Given the description of an element on the screen output the (x, y) to click on. 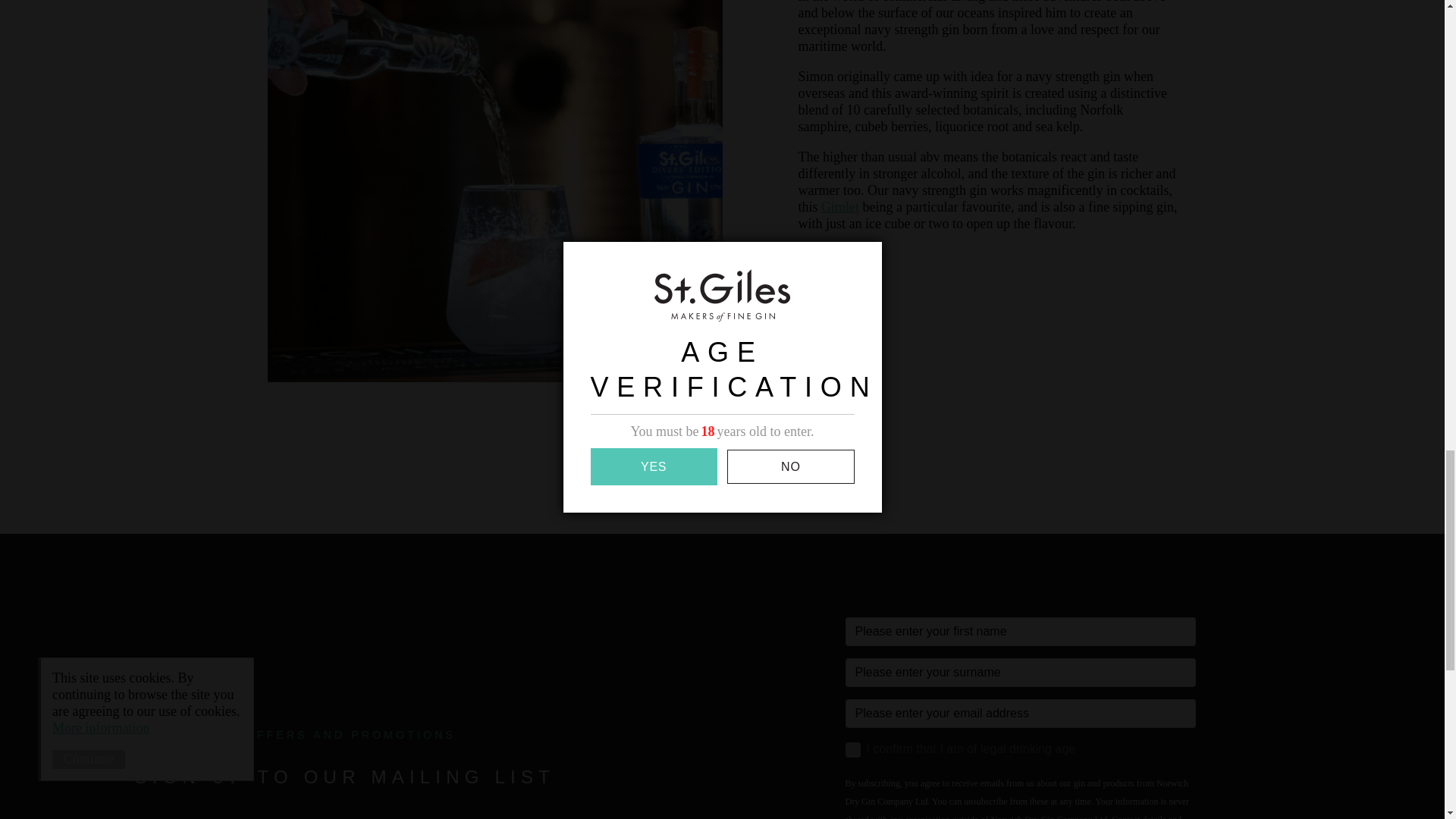
Gimlet (840, 206)
